Given the description of an element on the screen output the (x, y) to click on. 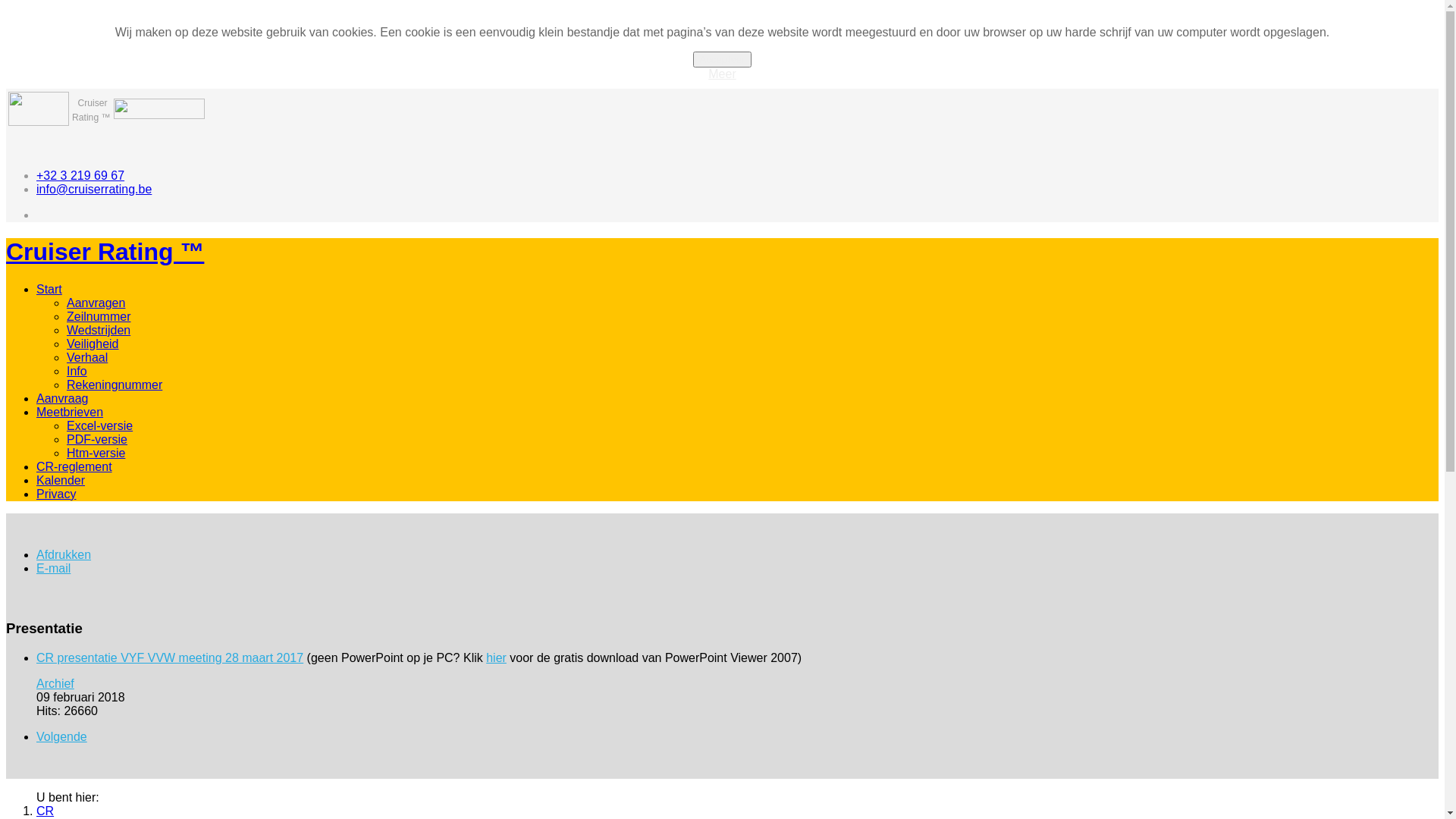
Zeilnummer Element type: text (98, 316)
Privacy Element type: text (55, 493)
hier Element type: text (496, 657)
E-mail Element type: text (53, 567)
Accepteer Element type: text (721, 59)
PDF-versie Element type: text (96, 439)
info@cruiserrating.be Element type: text (93, 188)
CR presentatie VYF VVW meeting 28 maart 2017 Element type: text (169, 657)
+32 3 219 69 67 Element type: text (80, 175)
Veiligheid Element type: text (92, 343)
Wedstrijden Element type: text (98, 329)
Meer Element type: text (721, 73)
Meetbrieven Element type: text (69, 411)
Excel-versie Element type: text (99, 425)
Htm-versie Element type: text (95, 452)
CR Element type: text (44, 810)
VVW-Recrea vzw Element type: hover (38, 121)
Start Element type: text (49, 288)
Rekeningnummer Element type: text (114, 384)
Archief Element type: text (55, 683)
Afdrukken Element type: text (63, 554)
Volgende Element type: text (61, 736)
Verhaal Element type: text (86, 357)
CR-reglement Element type: text (74, 466)
Kalender Element type: text (60, 479)
Info Element type: text (76, 370)
Aanvraag Element type: text (62, 398)
Aanvragen Element type: text (95, 302)
